Given the description of an element on the screen output the (x, y) to click on. 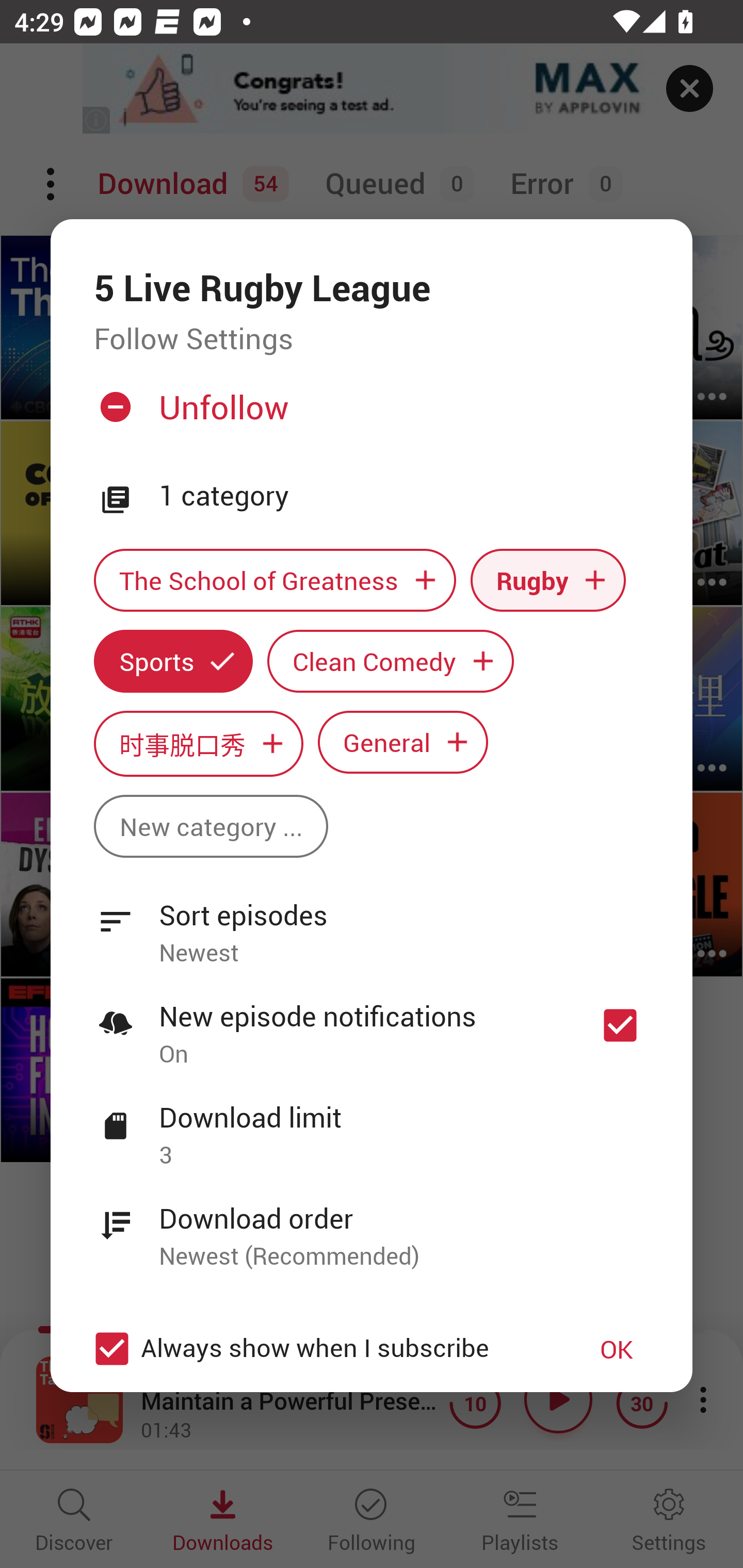
Unfollow (369, 415)
1 category (404, 495)
The School of Greatness (274, 579)
Rugby (547, 579)
Sports (172, 661)
Clean Comedy (390, 661)
时事脱口秀 (198, 743)
General (403, 741)
New category ... (210, 825)
Sort episodes Newest (371, 922)
New episode notifications (620, 1025)
Download limit 3 (371, 1125)
Download order Newest (Recommended) (371, 1226)
OK (616, 1349)
Always show when I subscribe (320, 1349)
